Given the description of an element on the screen output the (x, y) to click on. 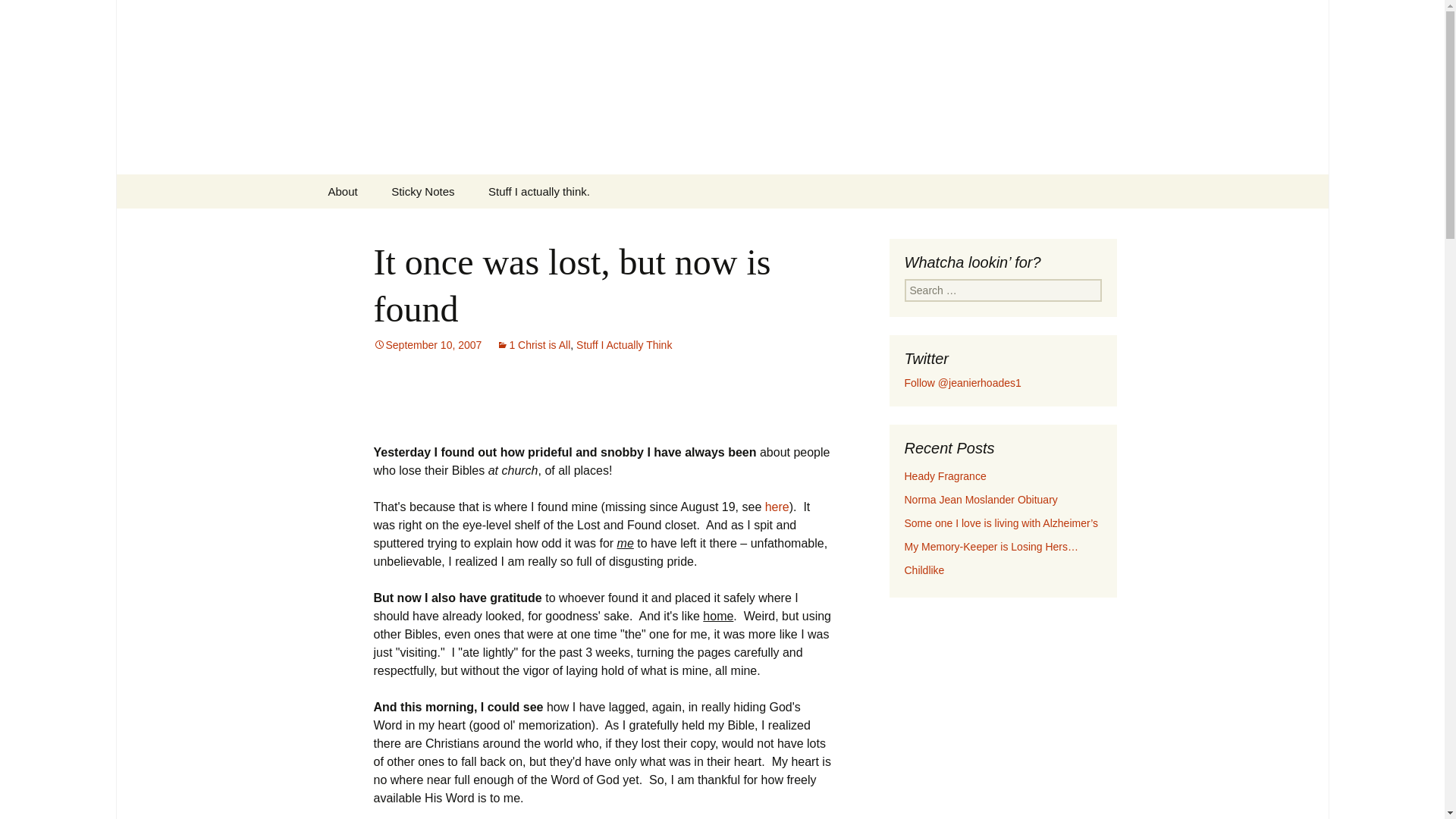
Childlike (923, 570)
Permalink to It once was lost, but now is found (426, 345)
Search (18, 15)
Stuff I Actually Think (623, 345)
Sticky Notes (421, 191)
Norma Jean Moslander Obituary (980, 499)
Stuff I actually think. (539, 191)
September 10, 2007 (426, 345)
About (342, 191)
1 Christ is All (533, 345)
Search (34, 15)
here (777, 506)
Heady Fragrance (944, 476)
